Given the description of an element on the screen output the (x, y) to click on. 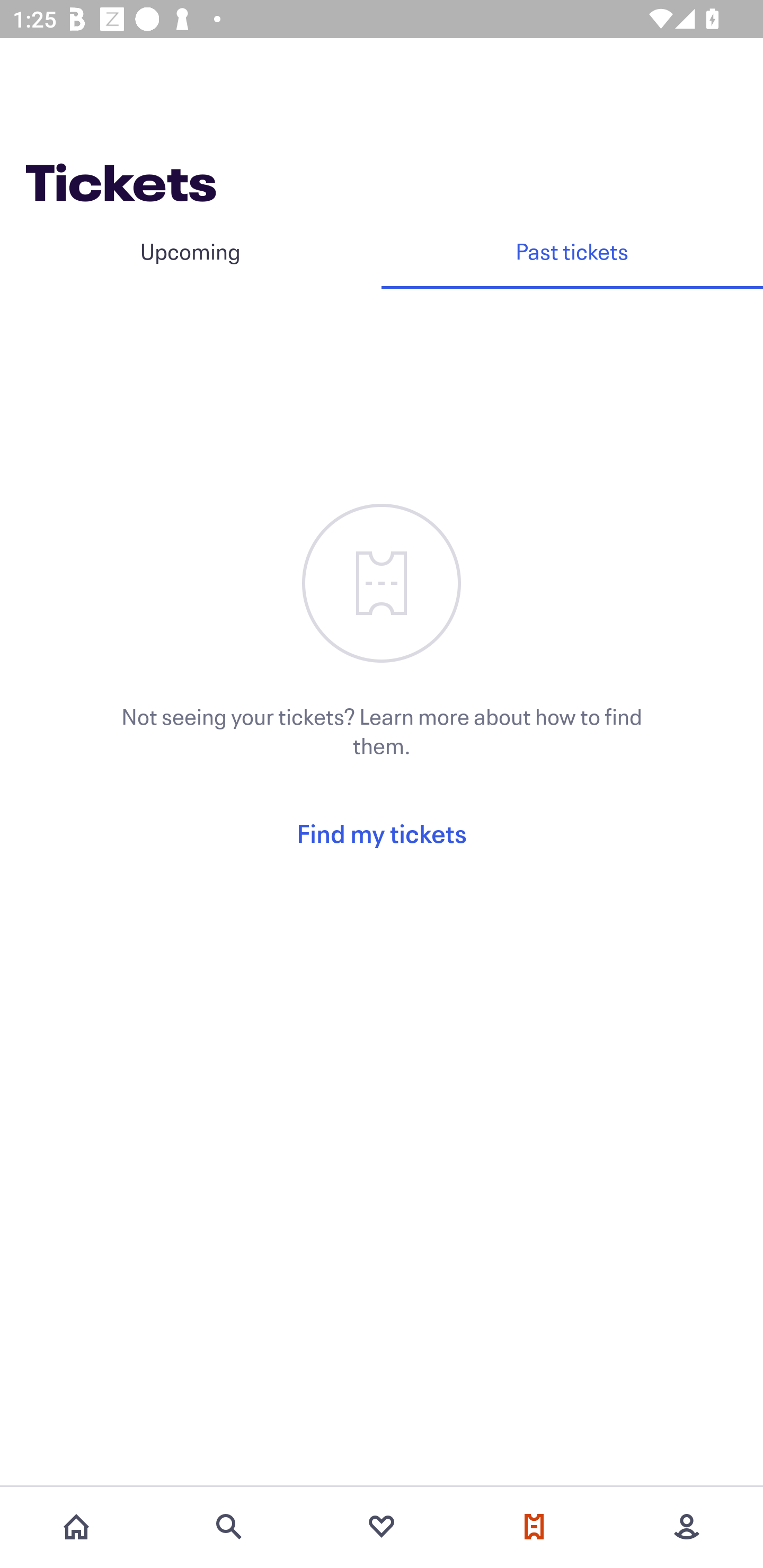
Upcoming (190, 250)
Find my tickets (381, 833)
Home (76, 1526)
Search events (228, 1526)
Favorites (381, 1526)
Tickets (533, 1526)
More (686, 1526)
